Given the description of an element on the screen output the (x, y) to click on. 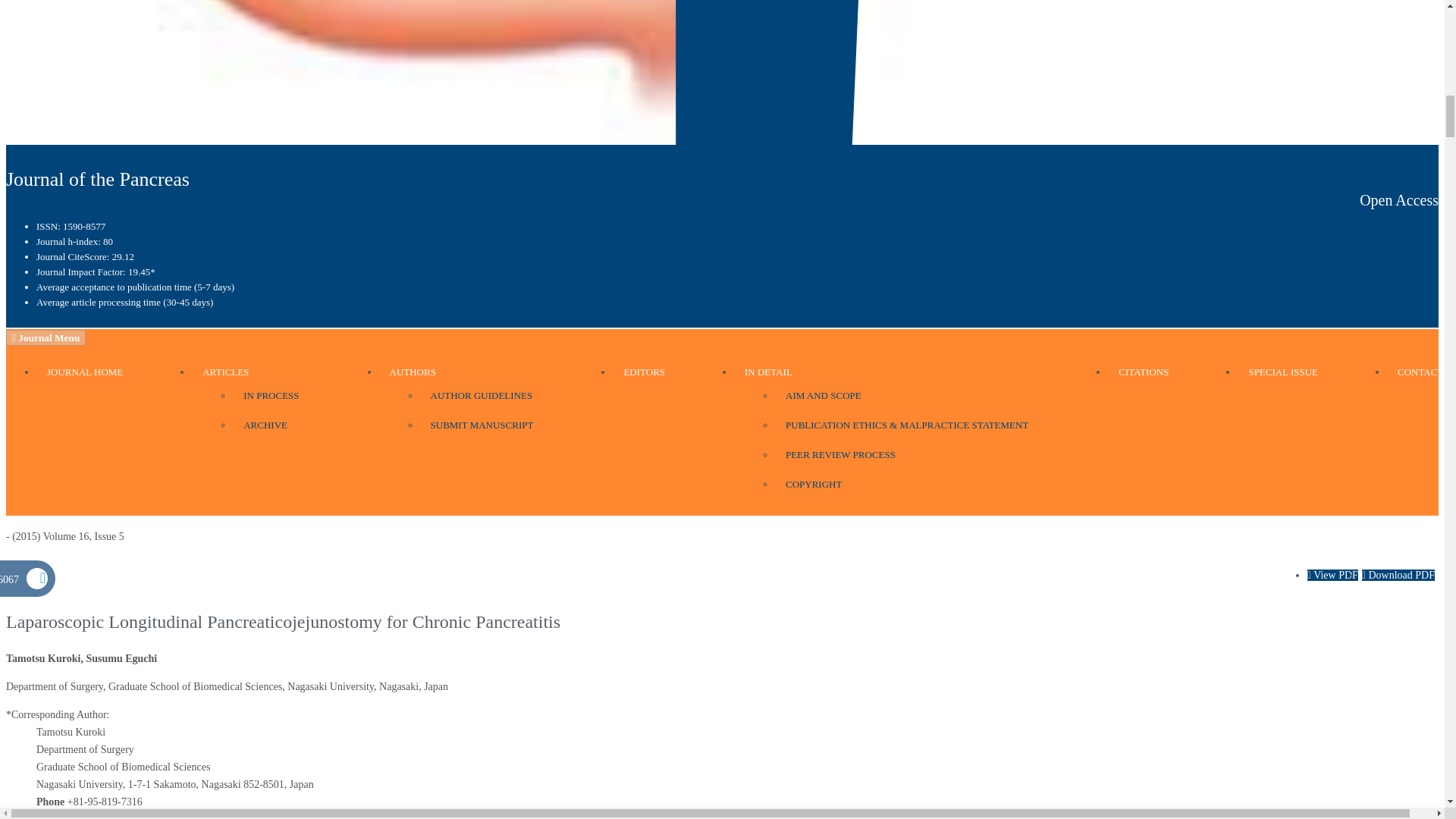
Click here (644, 371)
Journal Menu (45, 337)
Click here (84, 371)
Click here (412, 376)
SPECIAL ISSUE (1282, 371)
Click here (481, 395)
AUTHOR GUIDELINES (481, 395)
Click here (225, 376)
ARTICLES (225, 376)
JOURNAL HOME (84, 371)
Click here (823, 395)
AIM AND SCOPE (823, 395)
Click here (264, 425)
View PDF (1332, 574)
Click here (768, 376)
